Given the description of an element on the screen output the (x, y) to click on. 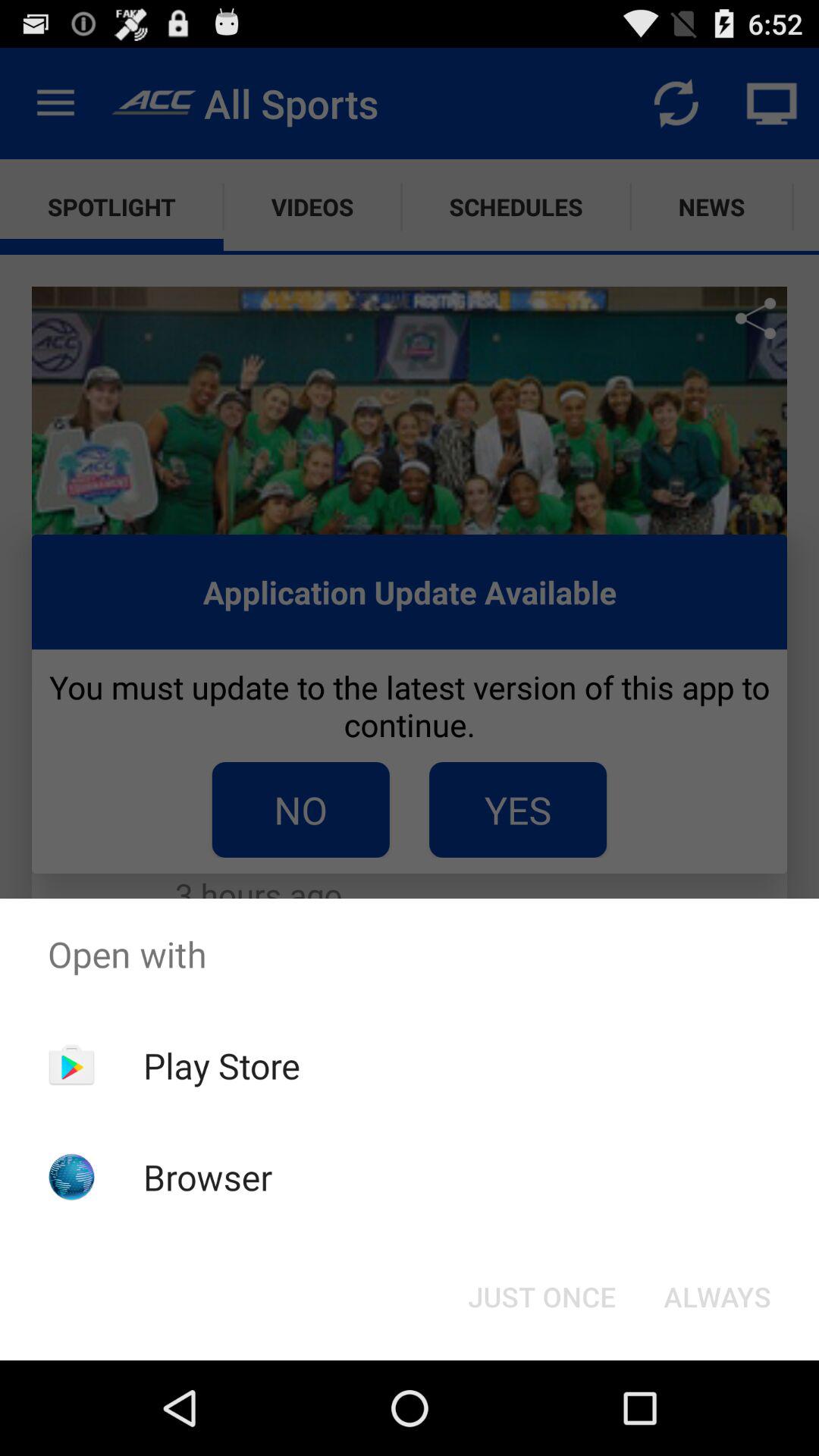
tap the icon below the open with item (717, 1296)
